Given the description of an element on the screen output the (x, y) to click on. 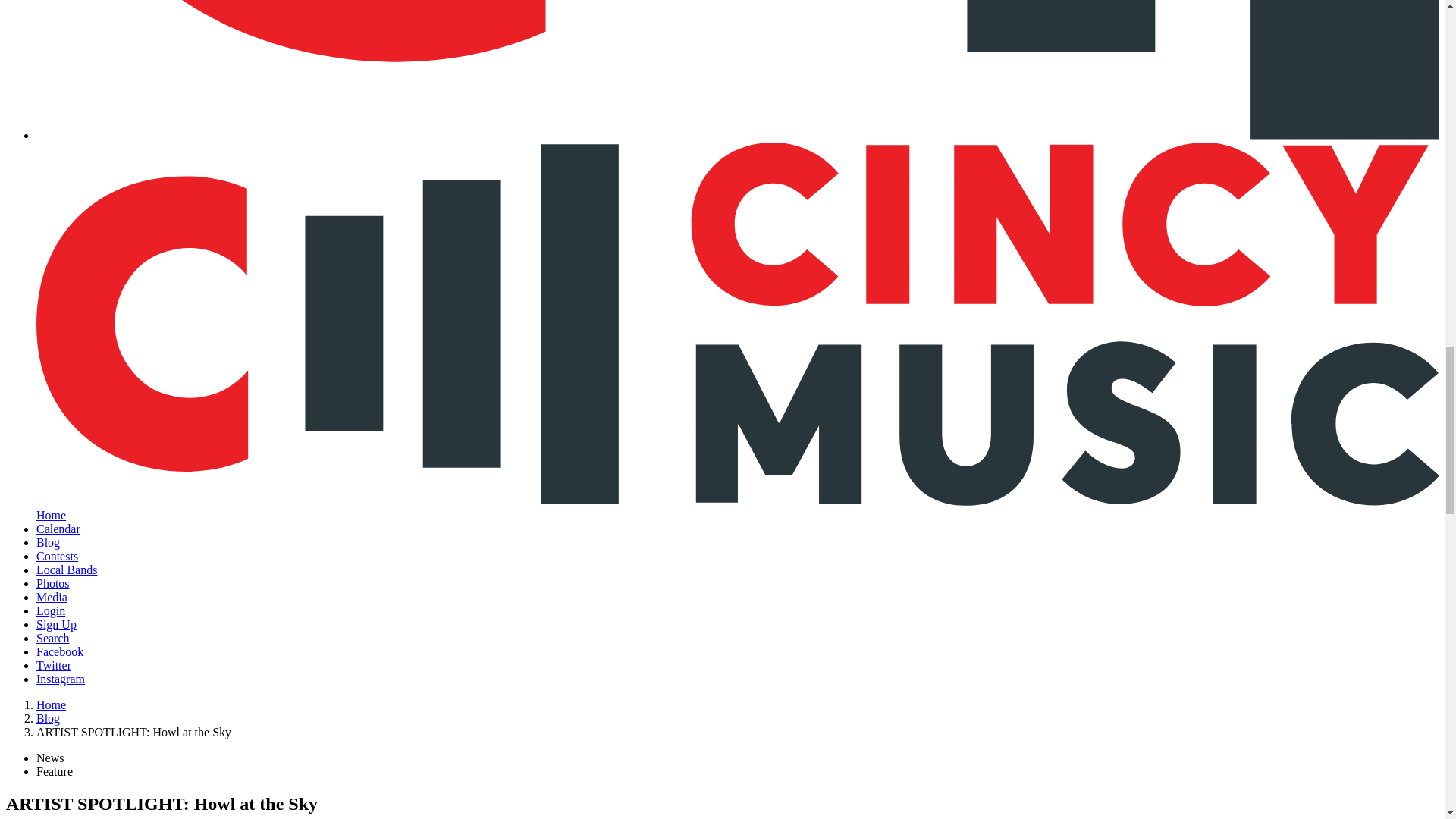
Login (50, 610)
Home (50, 704)
Blog (47, 542)
Media (51, 596)
Twitter (53, 665)
Photos (52, 583)
Calendar (58, 528)
Blog (47, 717)
Sign Up (56, 624)
Facebook (59, 651)
Search (52, 637)
Contests (57, 555)
Instagram (60, 678)
Local Bands (66, 569)
